Given the description of an element on the screen output the (x, y) to click on. 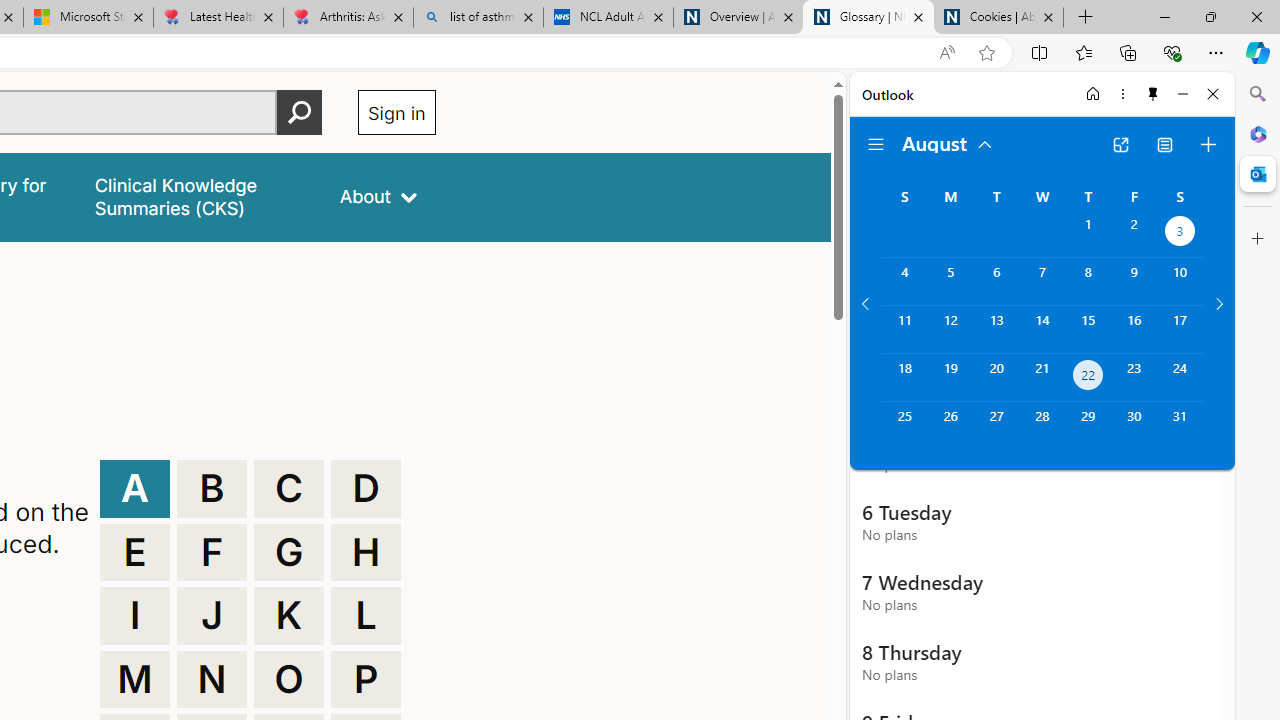
A (134, 488)
G (289, 551)
